Given the description of an element on the screen output the (x, y) to click on. 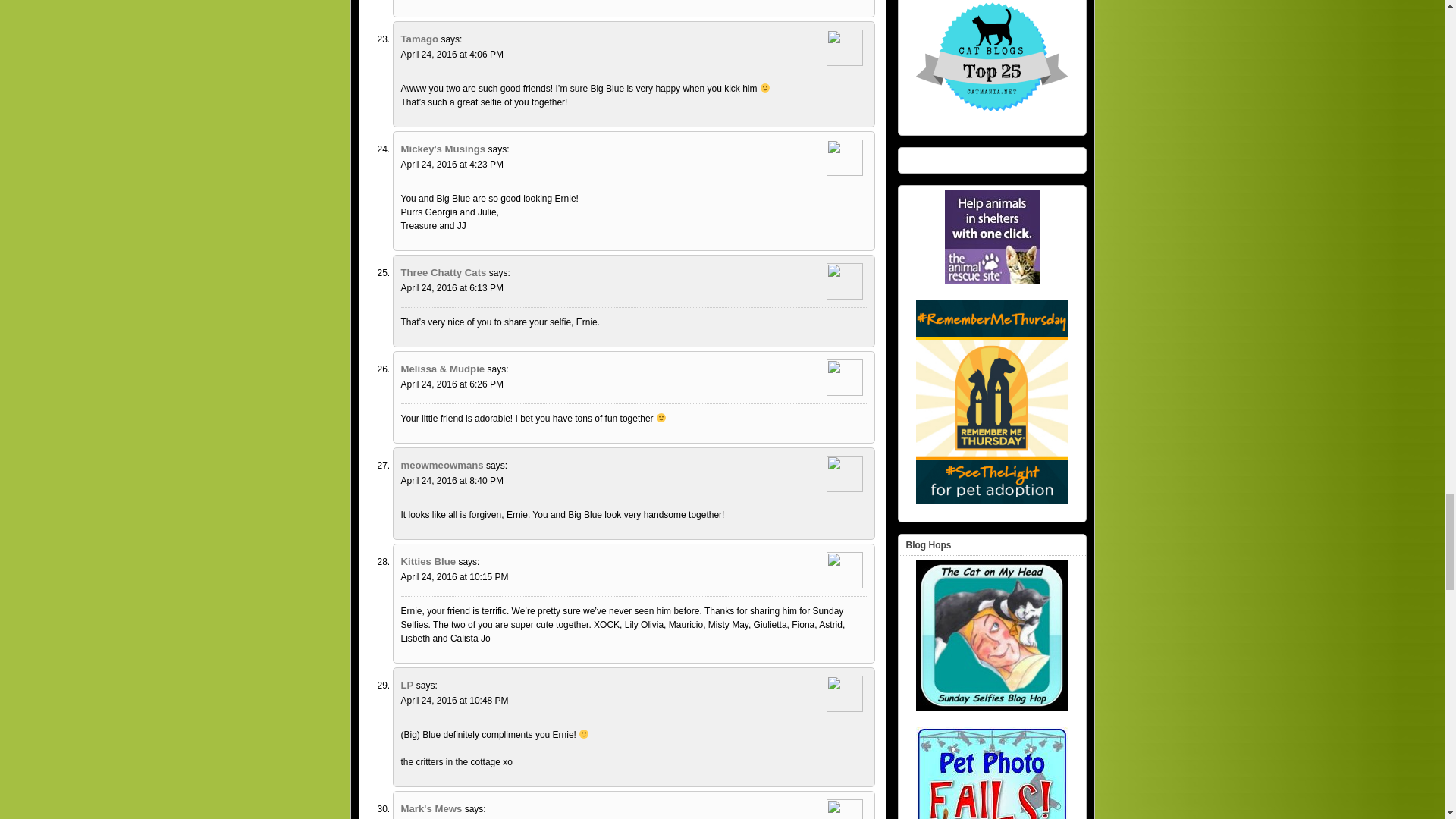
untitled (991, 236)
